Given the description of an element on the screen output the (x, y) to click on. 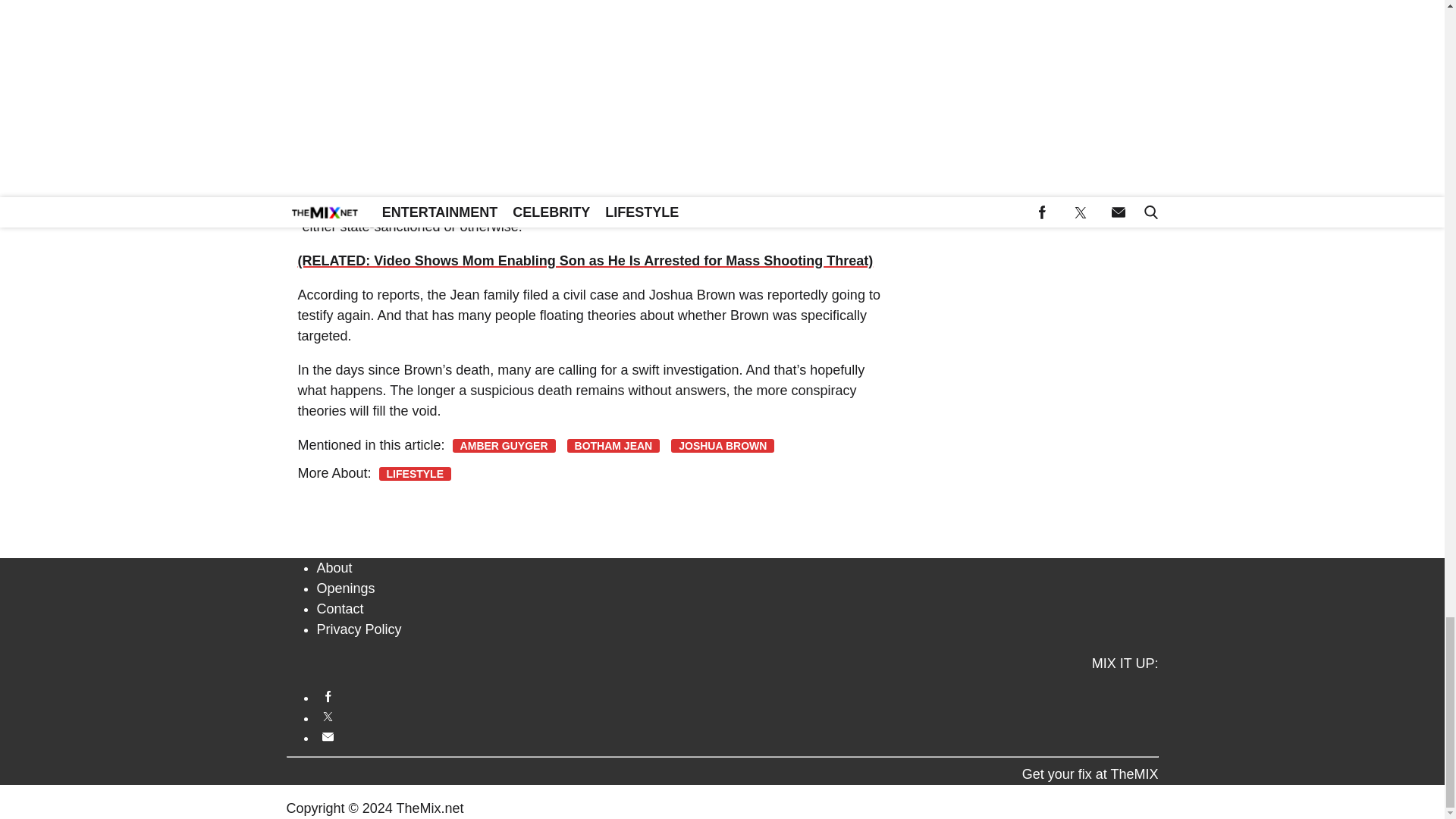
JOSHUA BROWN (722, 445)
BOTHAM JEAN (614, 445)
Send us an email (737, 736)
Follow us on Facebook (737, 696)
AMBER GUYGER (504, 445)
Follow us on Twitter (737, 716)
LIFESTYLE (414, 473)
